Given the description of an element on the screen output the (x, y) to click on. 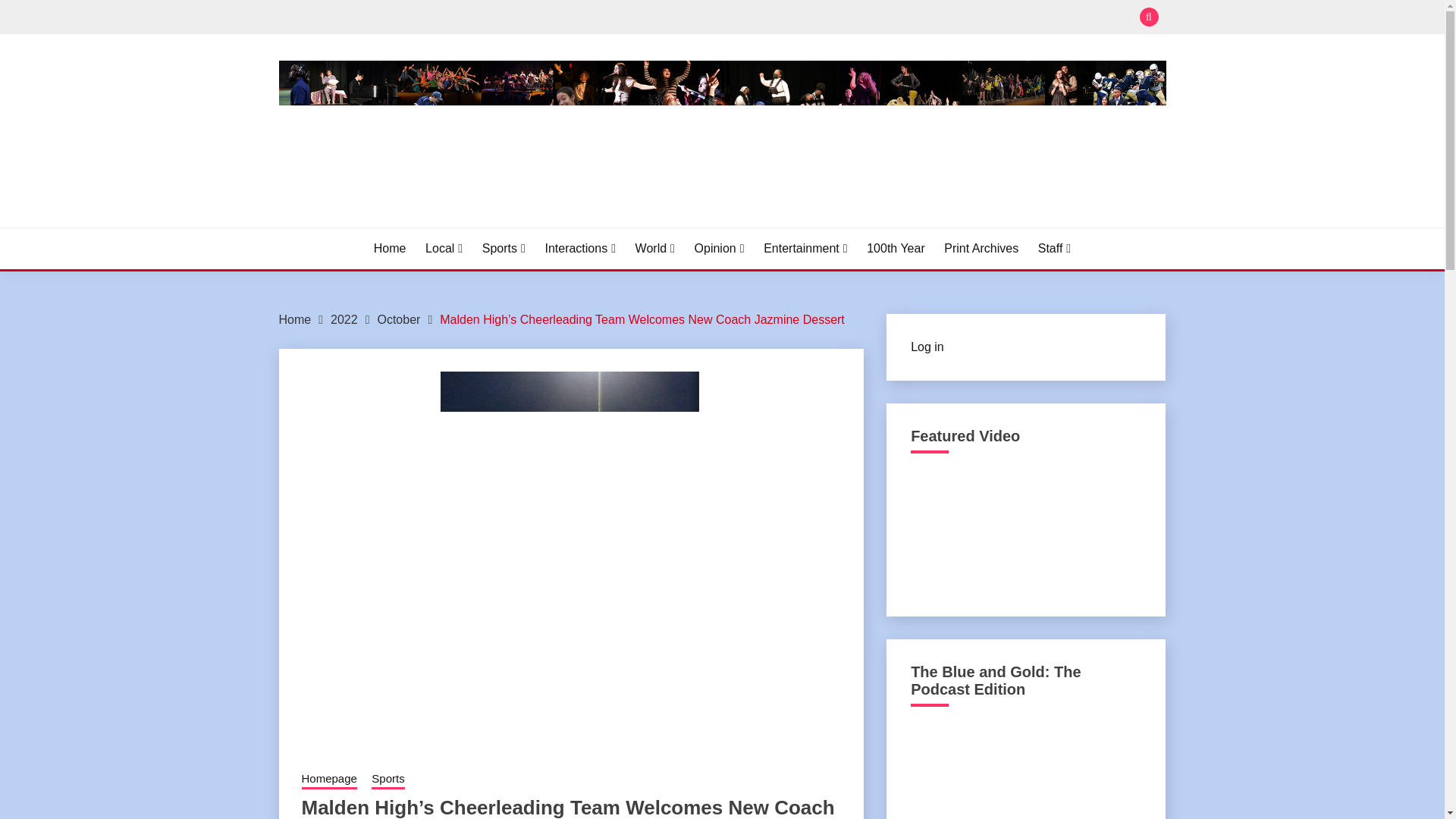
THE BLUE AND GOLD (426, 224)
Search (832, 18)
YouTube video player (1024, 530)
October (398, 318)
Sports (503, 248)
Opinion (719, 248)
Entertainment (804, 248)
Interactions (579, 248)
100th Year (895, 248)
Home (295, 318)
